Given the description of an element on the screen output the (x, y) to click on. 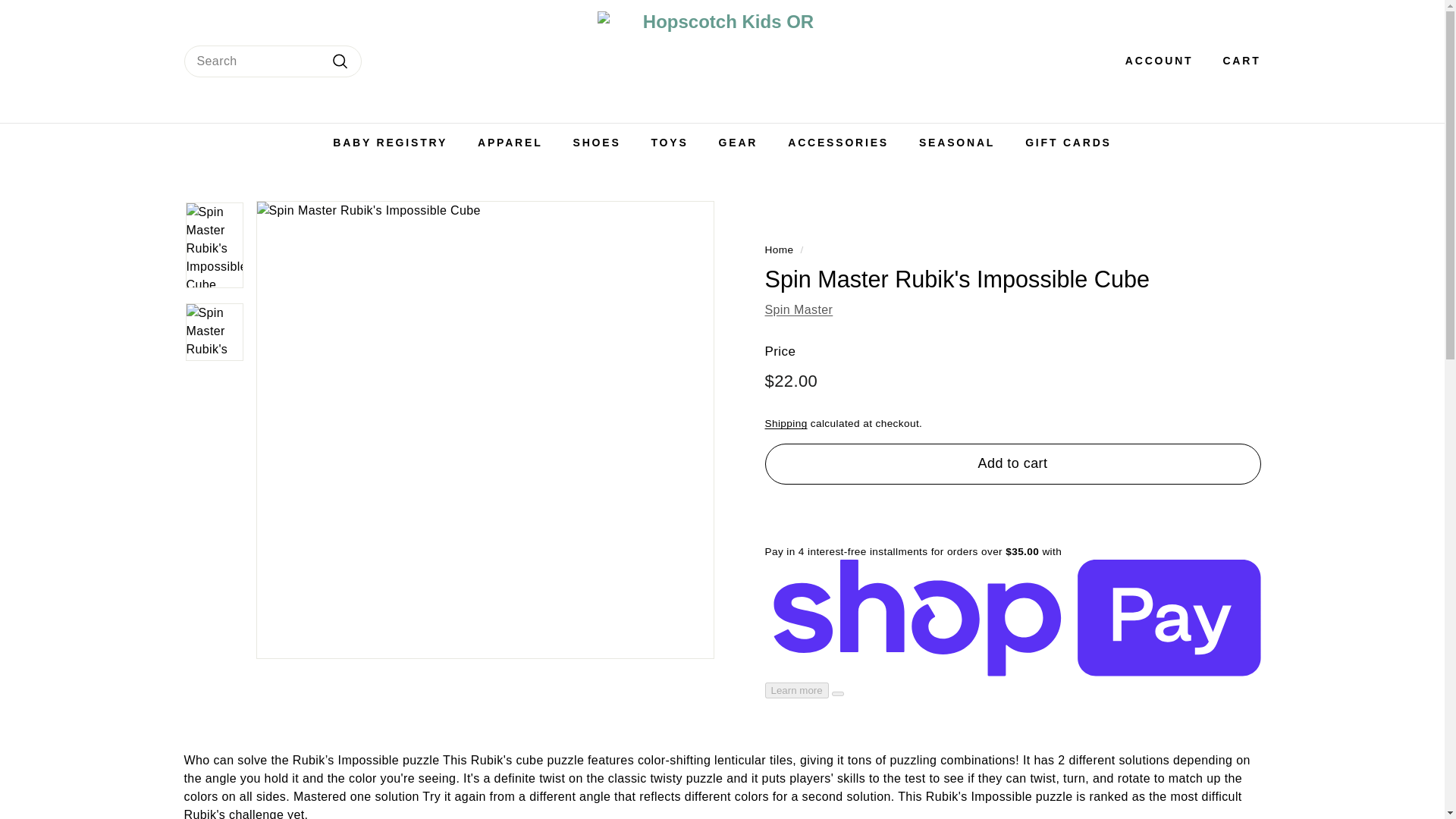
Spin Master (798, 309)
Back to the frontpage (778, 249)
CART (1235, 60)
BABY REGISTRY (390, 142)
ACCOUNT (1153, 60)
